Given the description of an element on the screen output the (x, y) to click on. 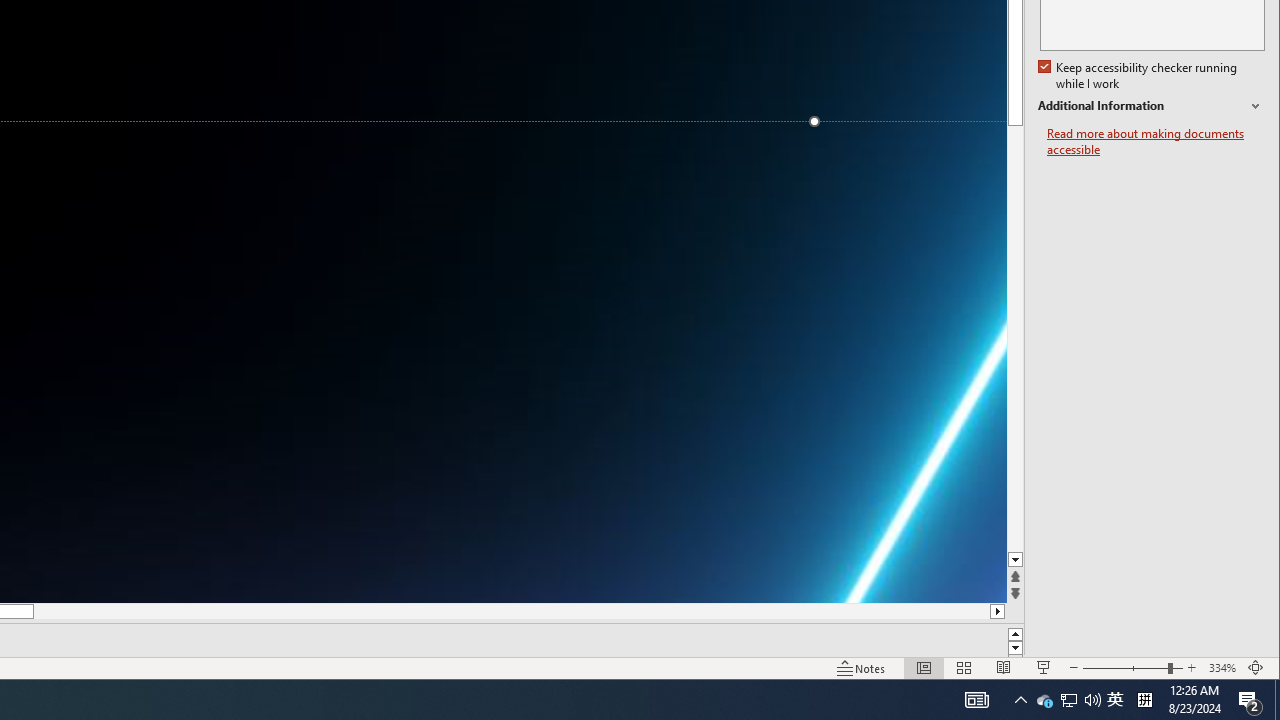
Zoom 334% (1222, 668)
User Promoted Notification Area (1115, 699)
Notification Chevron (1068, 699)
Q2790: 100% (1069, 699)
